Given the description of an element on the screen output the (x, y) to click on. 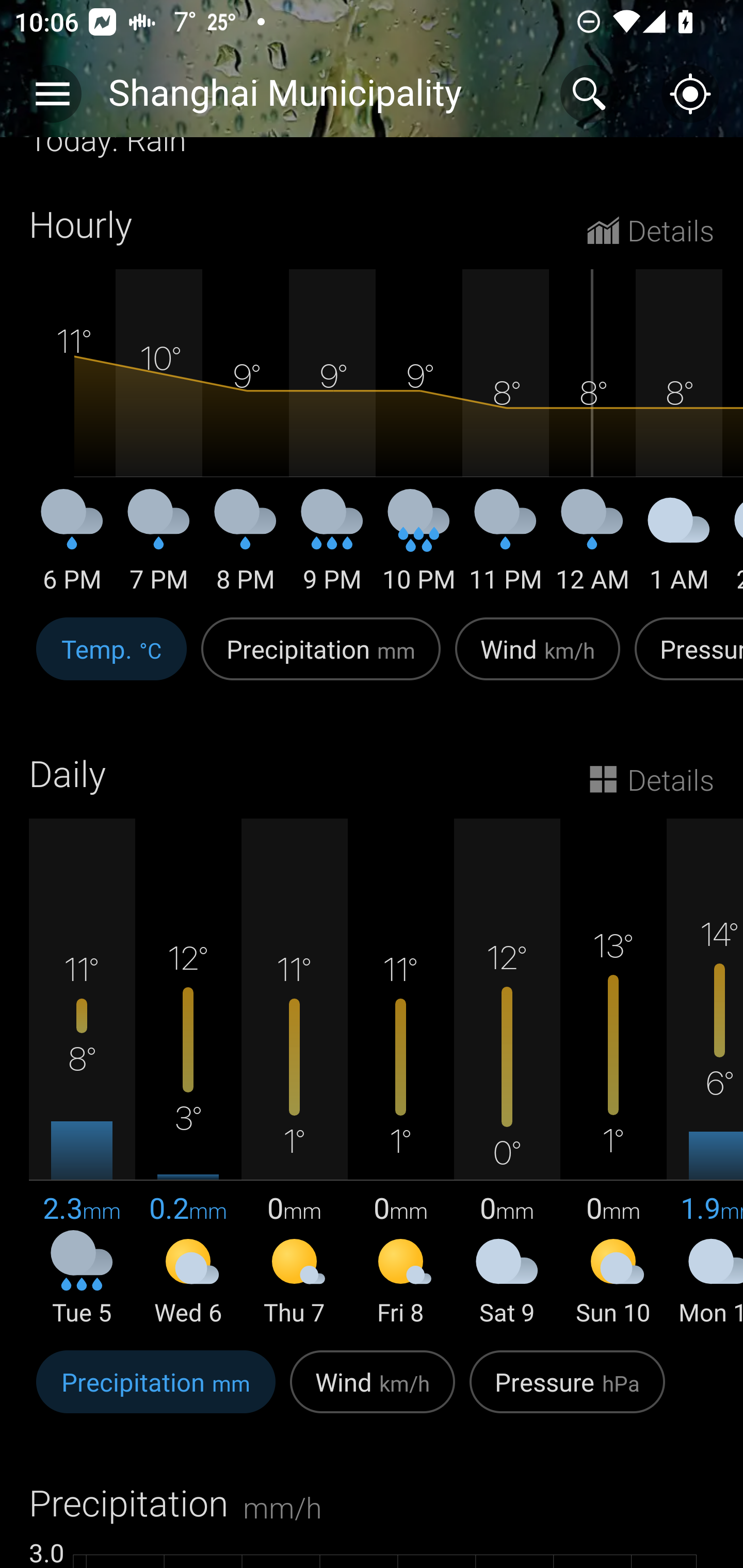
6 PM (71, 547)
7 PM (158, 547)
8 PM (245, 547)
9 PM (332, 547)
10 PM (418, 547)
11 PM (505, 547)
12 AM (592, 547)
1 AM (679, 547)
Temp. °C (110, 658)
Precipitation mm (320, 658)
Wind km/h (537, 658)
Pressure (685, 658)
11° 8° 2.3 mm Tue 5 (81, 1073)
12° 3° 0.2 mm Wed 6 (188, 1073)
11° 1° 0 mm Thu 7 (294, 1073)
11° 1° 0 mm Fri 8 (400, 1073)
12° 0° 0 mm Sat 9 (506, 1073)
13° 1° 0 mm Sun 10 (613, 1073)
14° 6° 1.9 mm Mon 11 (704, 1073)
Precipitation mm (155, 1392)
Wind km/h (372, 1392)
Pressure hPa (567, 1392)
